Given the description of an element on the screen output the (x, y) to click on. 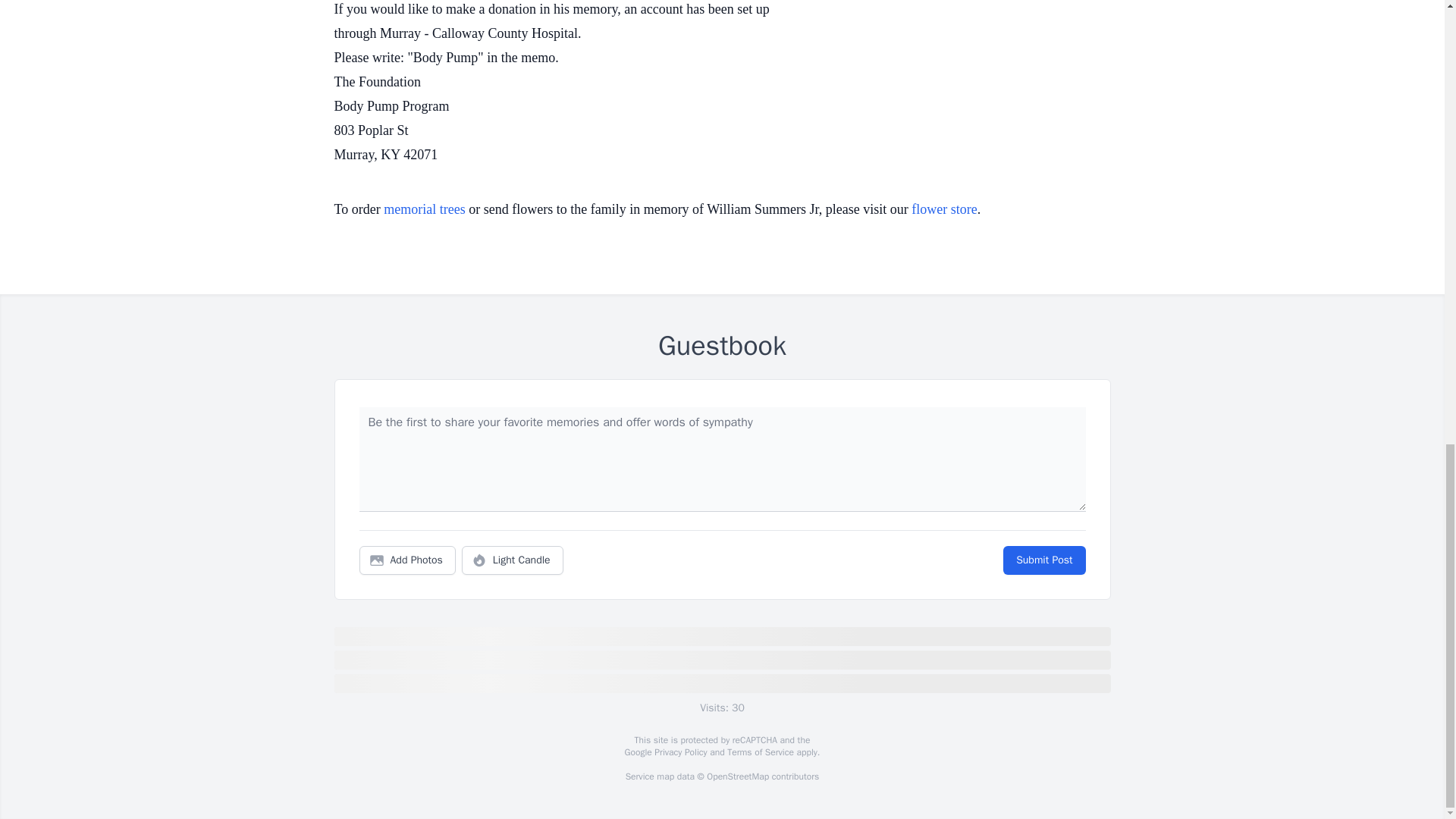
OpenStreetMap (737, 776)
Add Photos (407, 560)
Privacy Policy (679, 752)
memorial trees (424, 209)
Light Candle (512, 560)
Submit Post (1043, 560)
flower store (943, 209)
Terms of Service (759, 752)
